Given the description of an element on the screen output the (x, y) to click on. 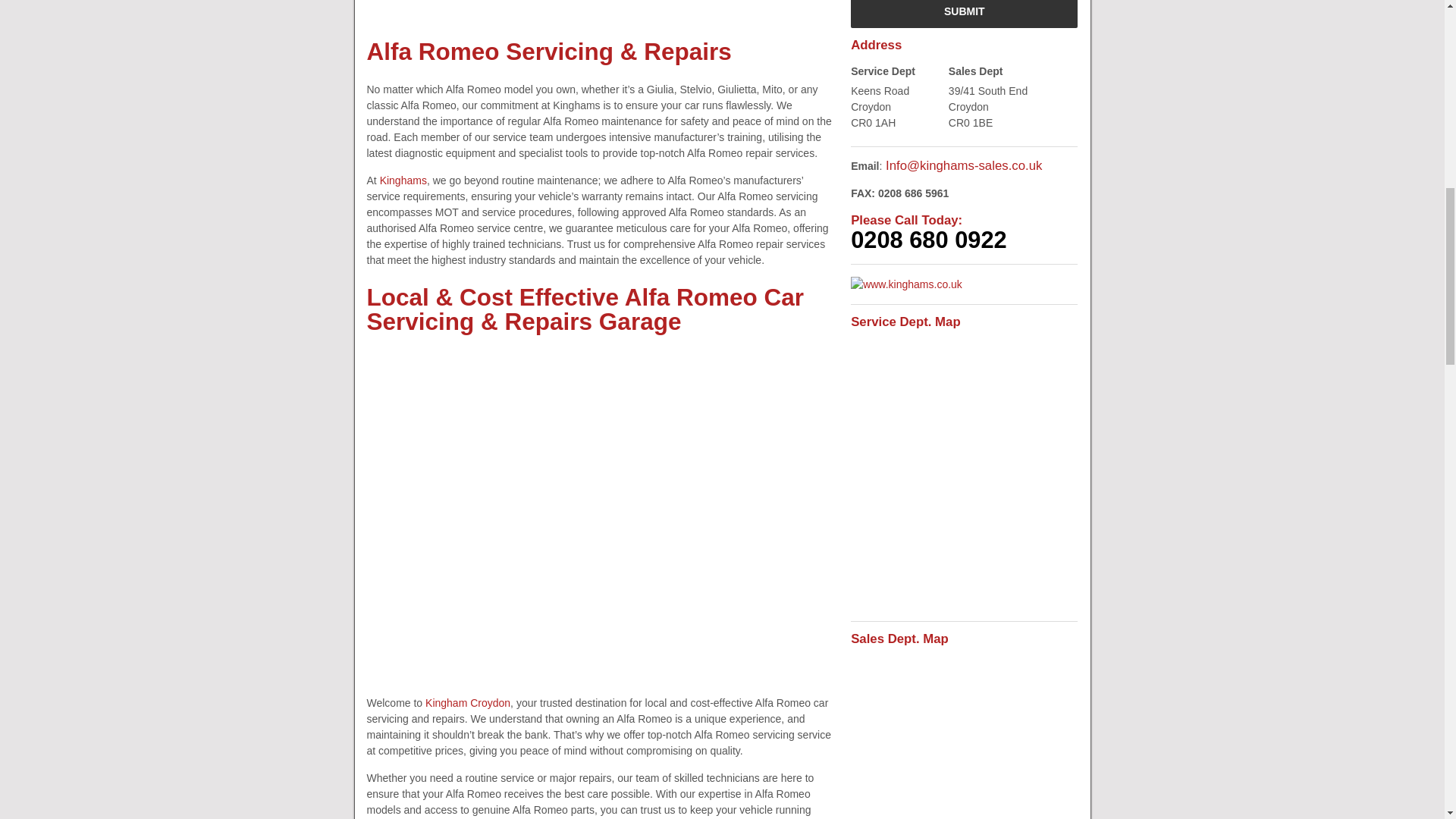
Kinghams (403, 180)
0208 680 0922 (928, 239)
Submit (963, 13)
Kingham Croydon (468, 702)
Submit (963, 13)
